Given the description of an element on the screen output the (x, y) to click on. 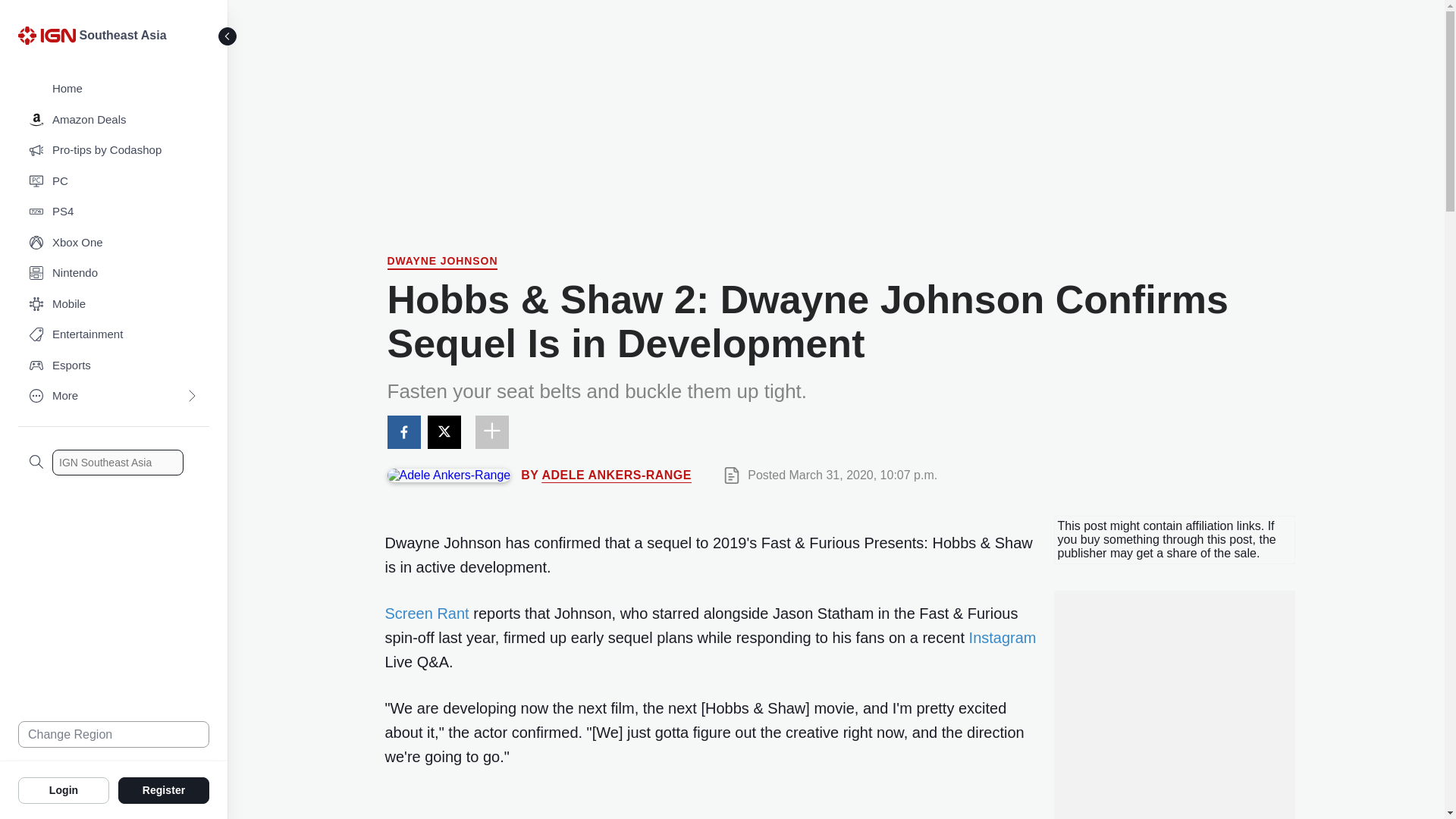
Amazon Deals (113, 119)
Esports (113, 365)
More (113, 396)
Nintendo (113, 273)
Toggle Sidebar (226, 36)
PC (113, 181)
Mobile (113, 304)
IGN Logo (46, 34)
Register (163, 789)
DWAYNE JOHNSON (442, 262)
